Given the description of an element on the screen output the (x, y) to click on. 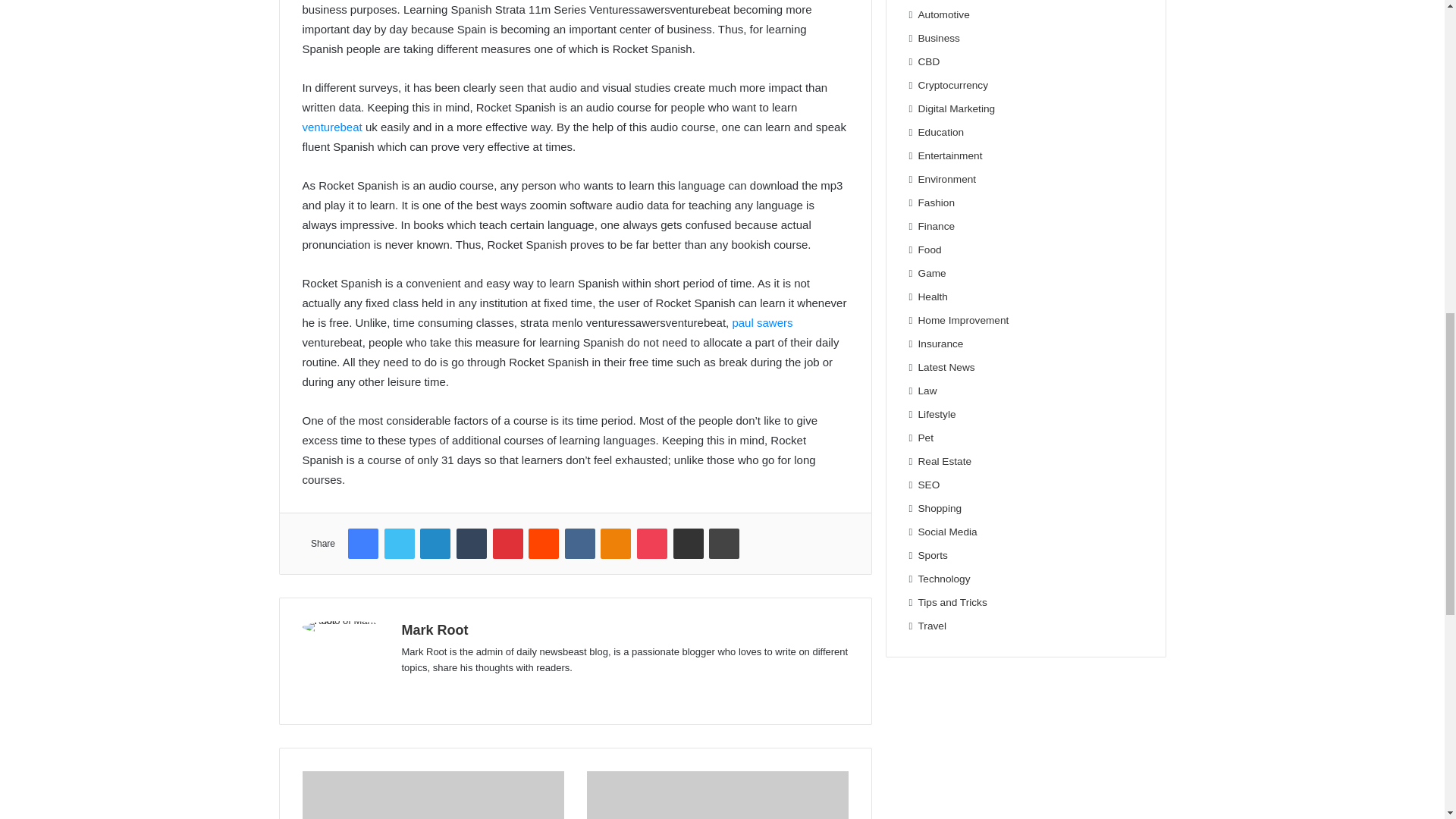
venturebeat (331, 126)
paul sawers (762, 322)
